Given the description of an element on the screen output the (x, y) to click on. 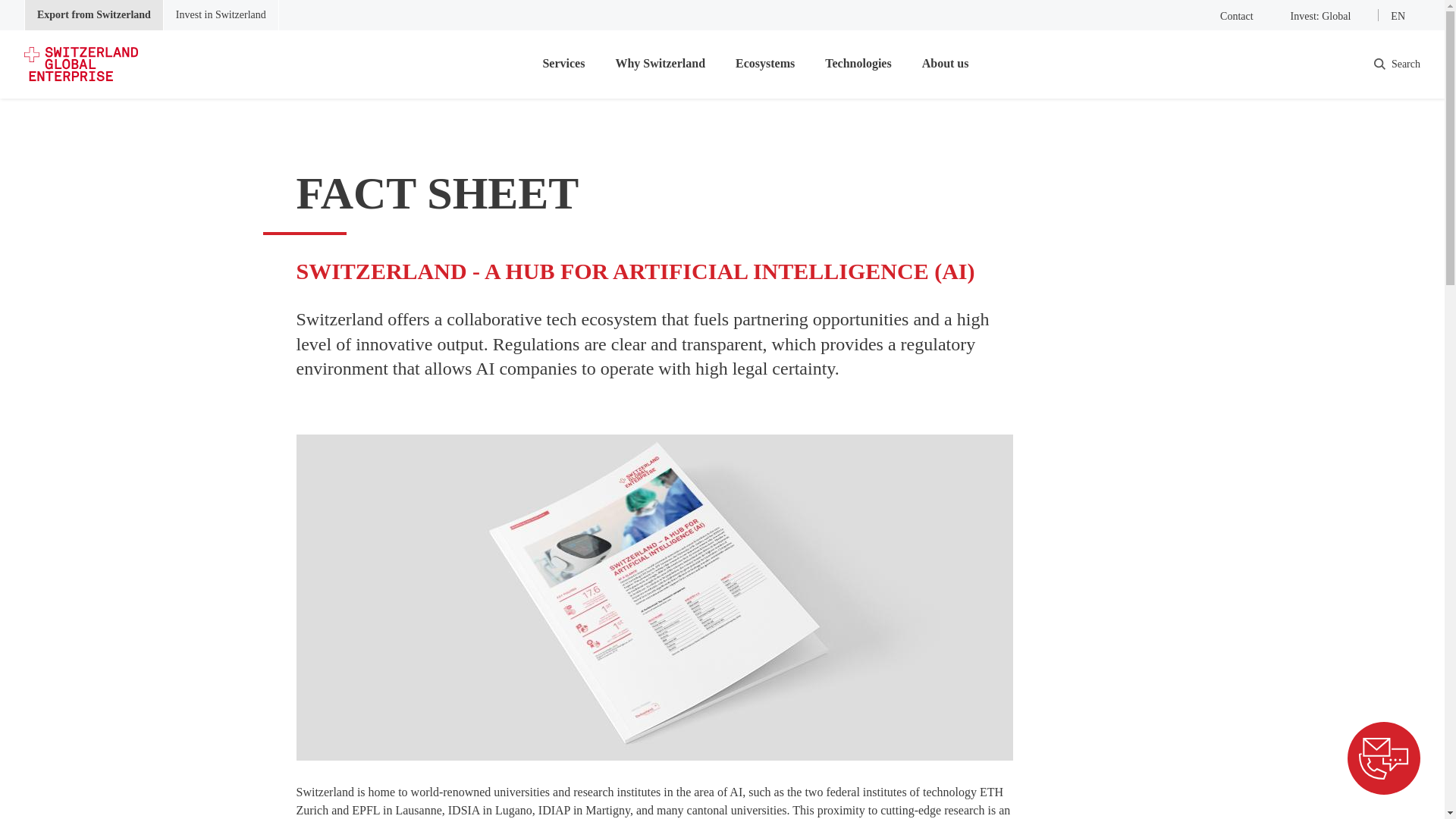
Invest in Switzerland (220, 15)
Contact (1227, 15)
Export from Switzerland (93, 15)
